Given the description of an element on the screen output the (x, y) to click on. 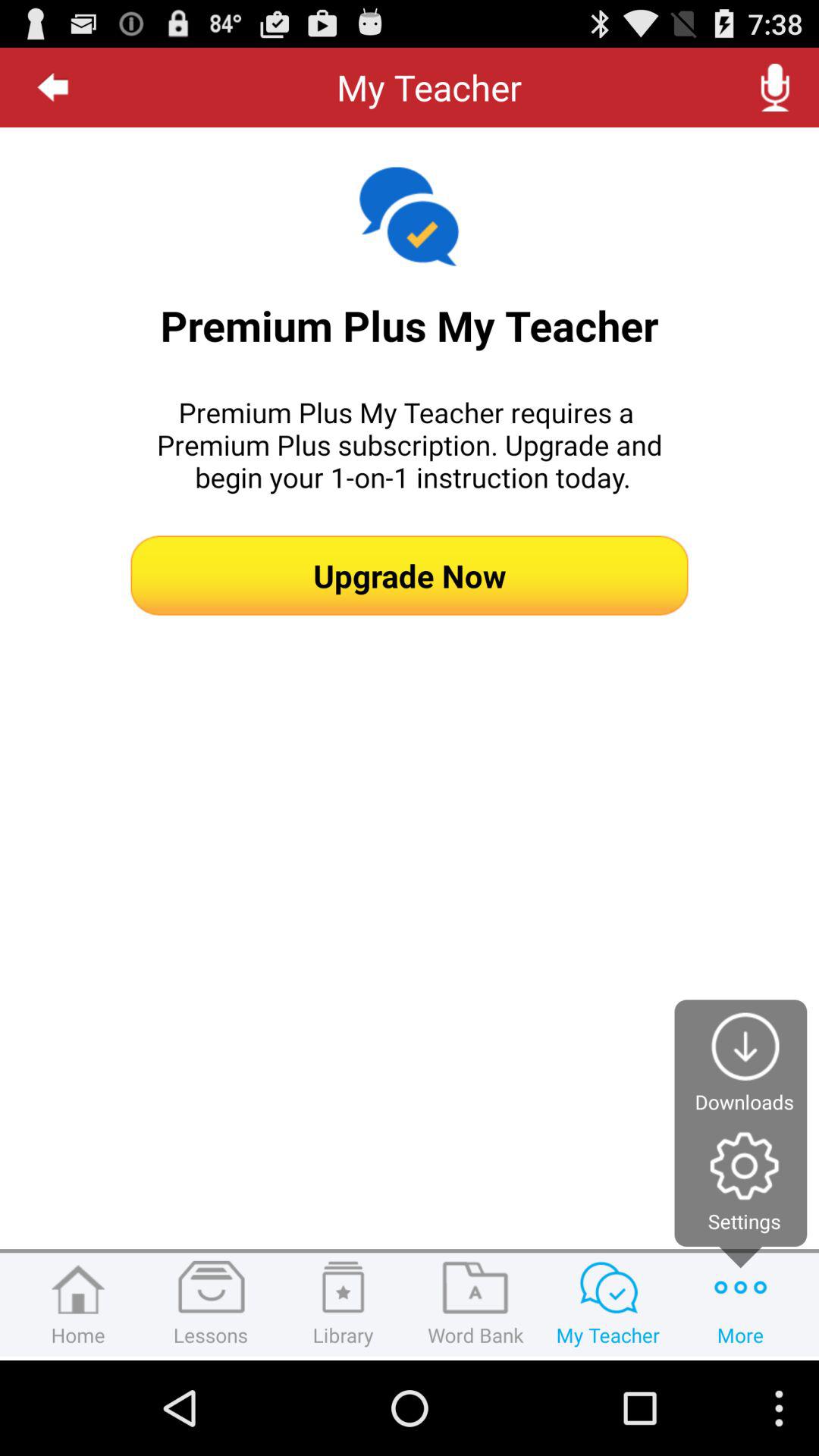
swipe until upgrade now icon (409, 575)
